Given the description of an element on the screen output the (x, y) to click on. 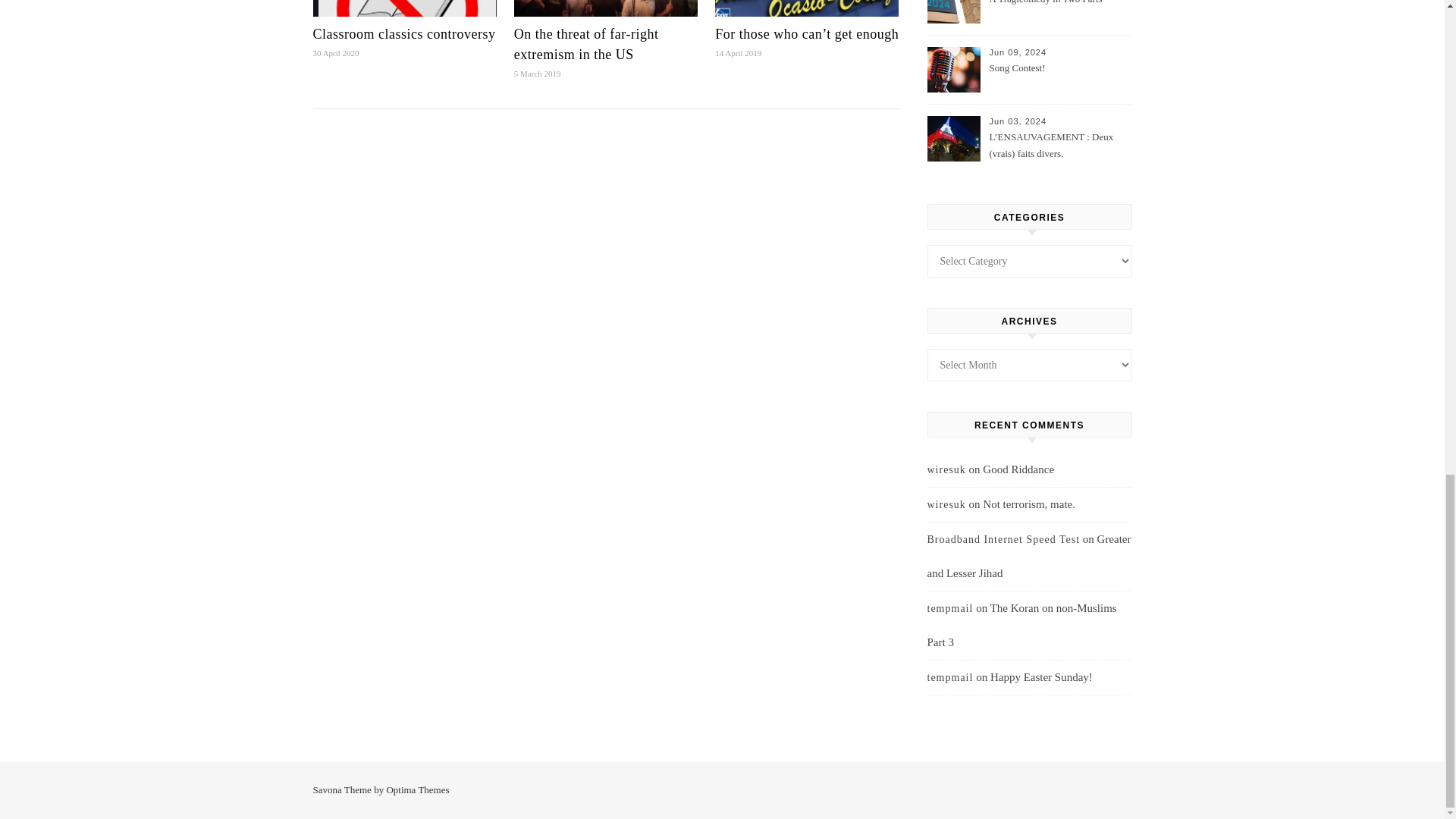
Classroom classics controversy (404, 33)
A Tragicomedy in Two Parts (1058, 12)
On the threat of far-right extremism in the US (586, 44)
